Given the description of an element on the screen output the (x, y) to click on. 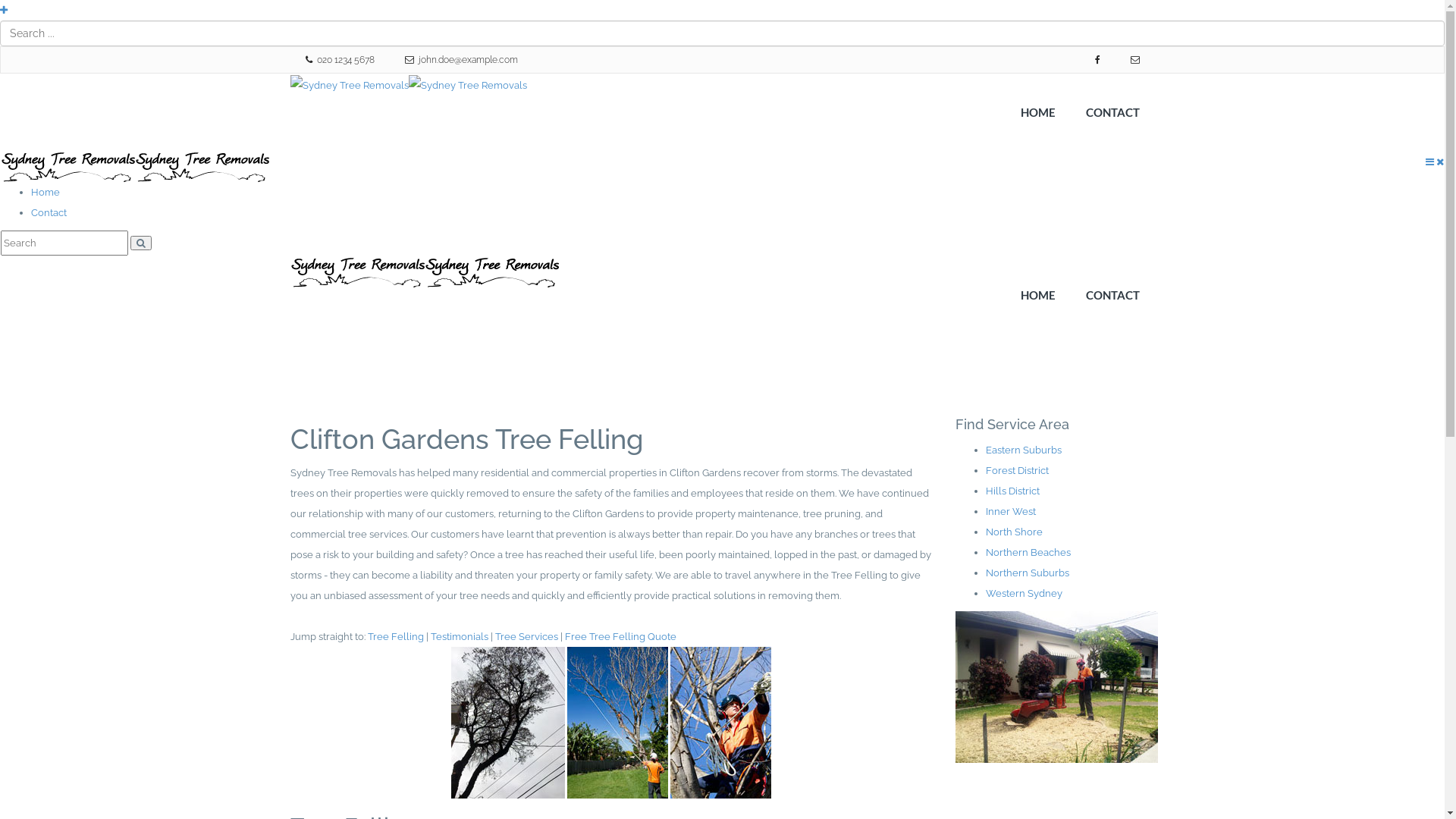
Eastern Suburbs Element type: text (1023, 449)
Testimonials Element type: text (459, 636)
Northern Suburbs Element type: text (1027, 572)
CONTACT Element type: text (1112, 112)
Free Tree Felling Quote Element type: text (619, 636)
Tree Felling Element type: text (395, 636)
  john.doe@example.com Element type: text (461, 59)
Forest District Element type: text (1016, 470)
Home Element type: text (45, 191)
Western Sydney Element type: text (1023, 593)
  020 1234 5678 Element type: text (339, 59)
Hills District Element type: text (1012, 490)
North Shore Element type: text (1013, 531)
HOME Element type: text (1037, 294)
CONTACT Element type: text (1112, 294)
Tree Services Element type: text (525, 636)
Northern Beaches Element type: text (1027, 552)
HOME Element type: text (1037, 112)
Contact Element type: text (48, 212)
Inner West Element type: text (1010, 511)
